Given the description of an element on the screen output the (x, y) to click on. 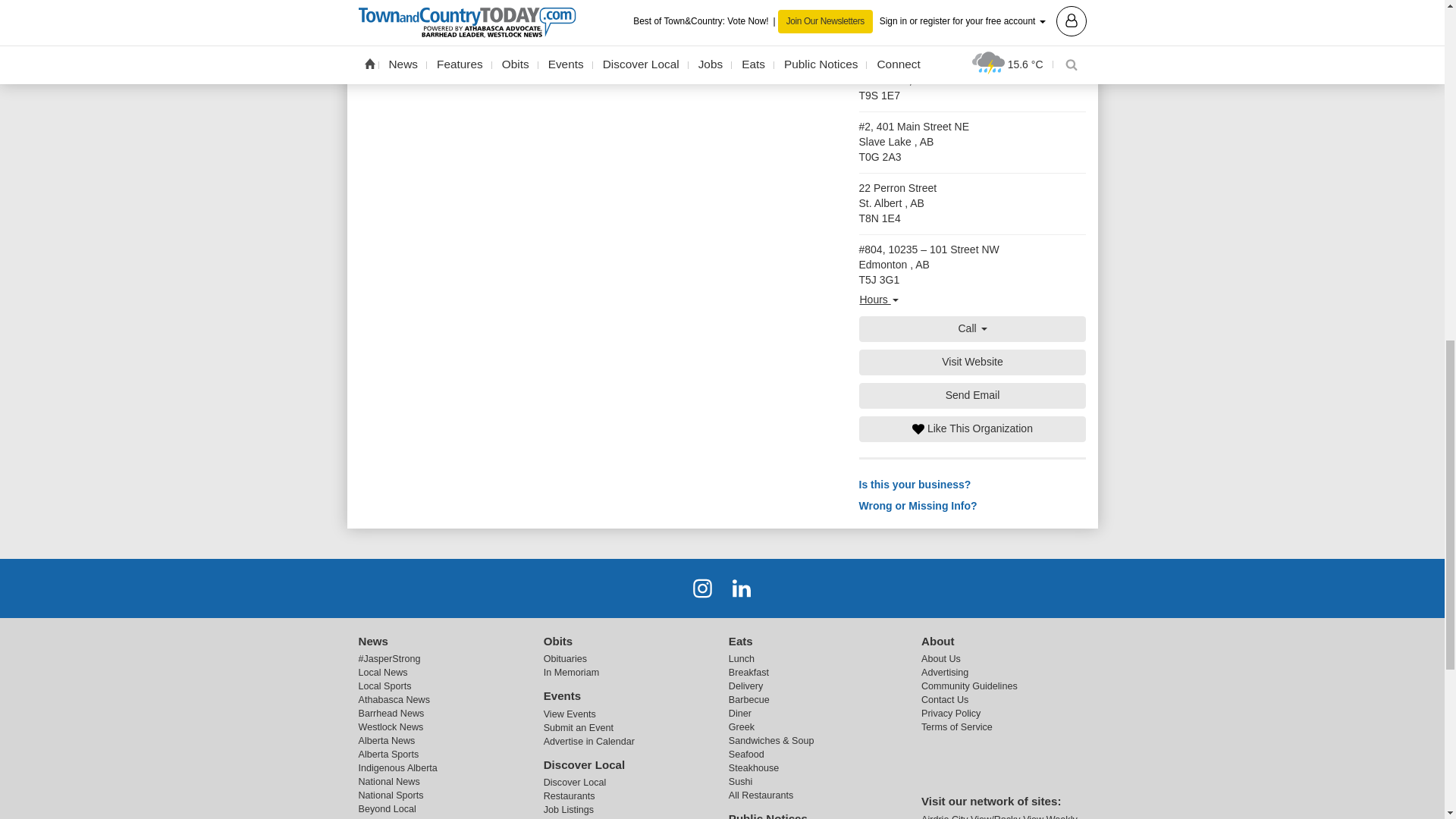
Instagram (702, 587)
Layers (884, 20)
LinkedIn (741, 587)
A JS library for interactive maps (1021, 40)
